Given the description of an element on the screen output the (x, y) to click on. 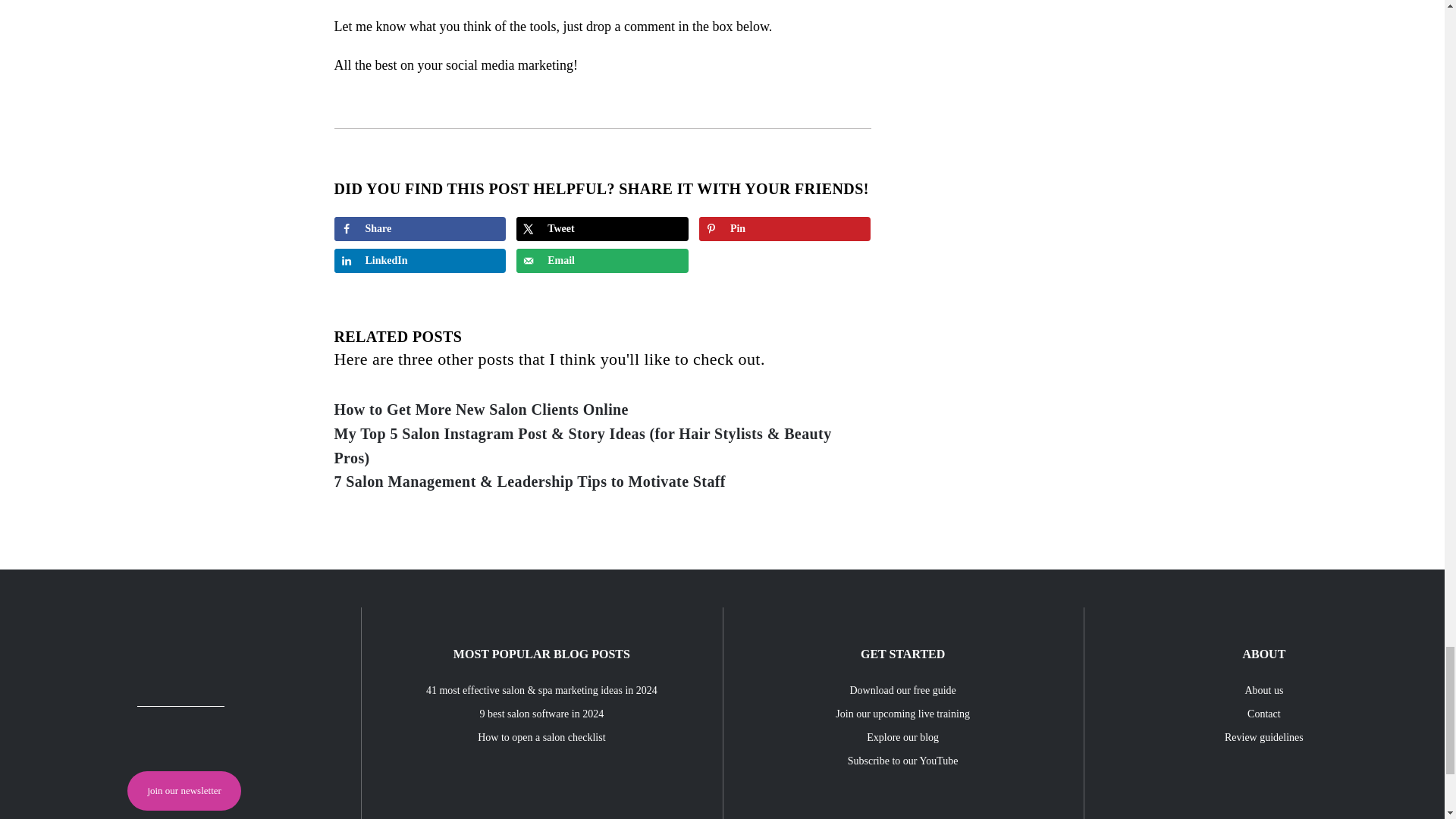
Save to Pinterest (784, 228)
Send over email (602, 260)
Share on X (602, 228)
Share on Facebook (419, 228)
Share on LinkedIn (419, 260)
